Given the description of an element on the screen output the (x, y) to click on. 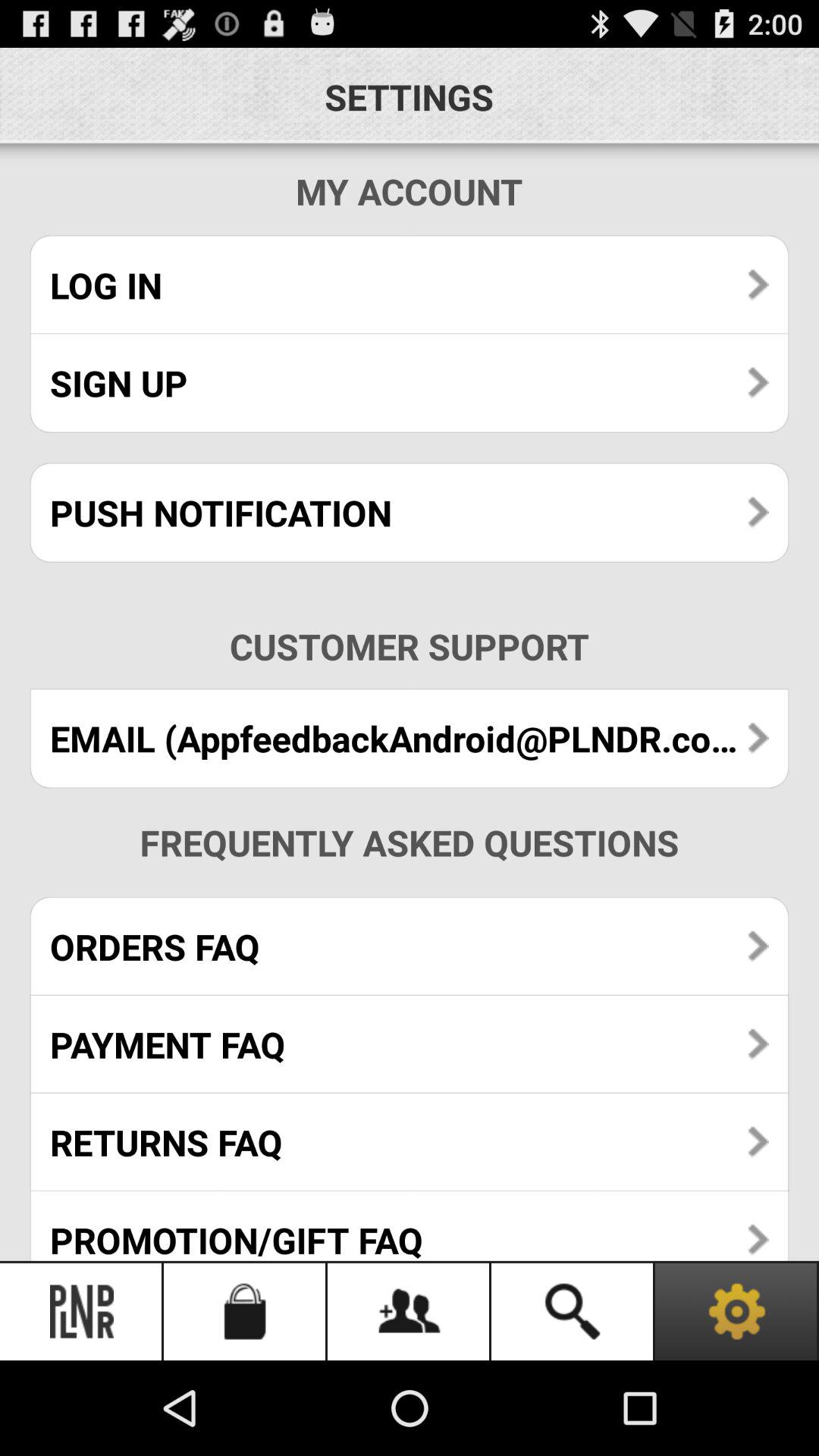
select icon below returns faq (409, 1225)
